Given the description of an element on the screen output the (x, y) to click on. 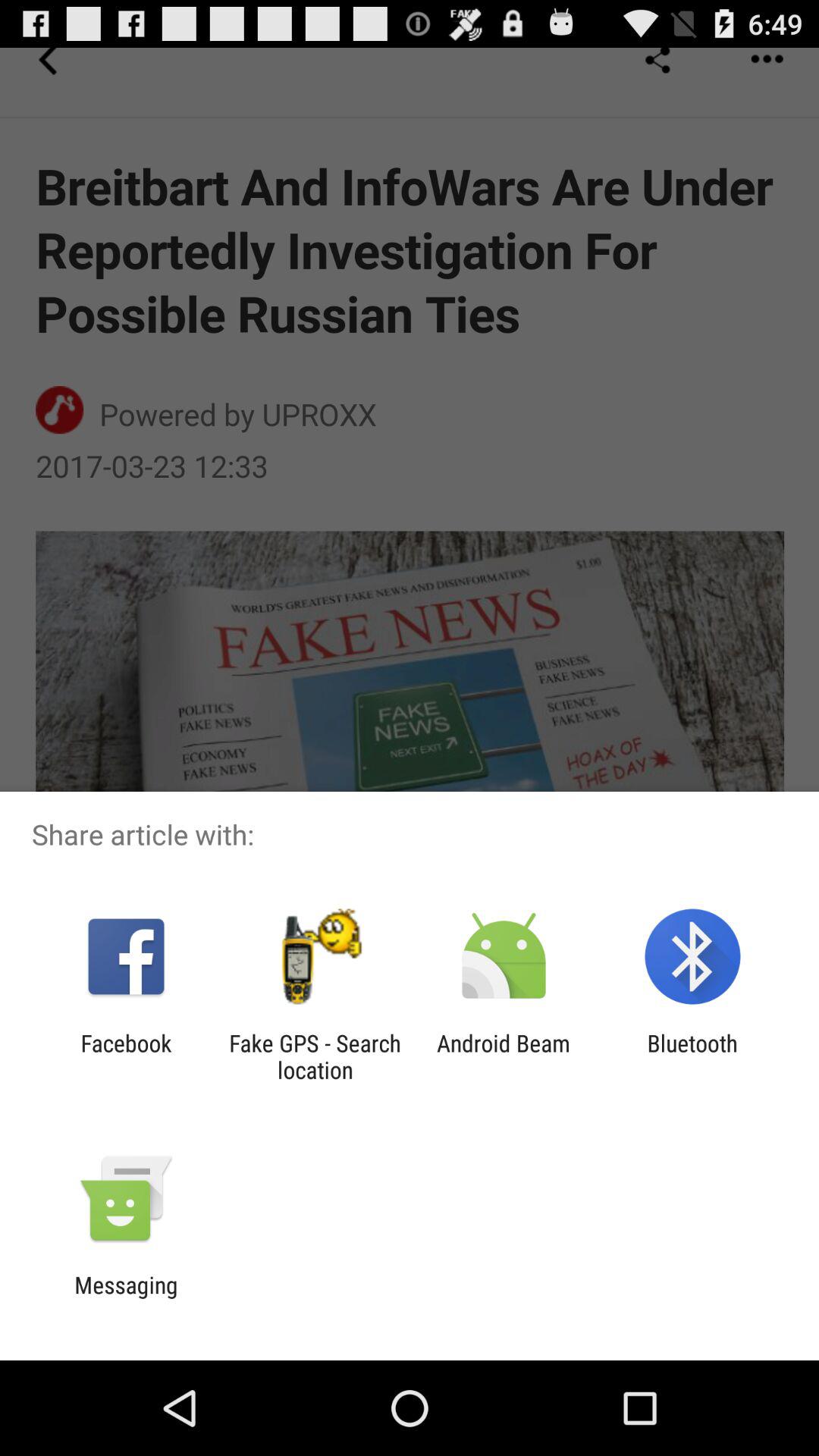
turn on the item next to the android beam item (314, 1056)
